Given the description of an element on the screen output the (x, y) to click on. 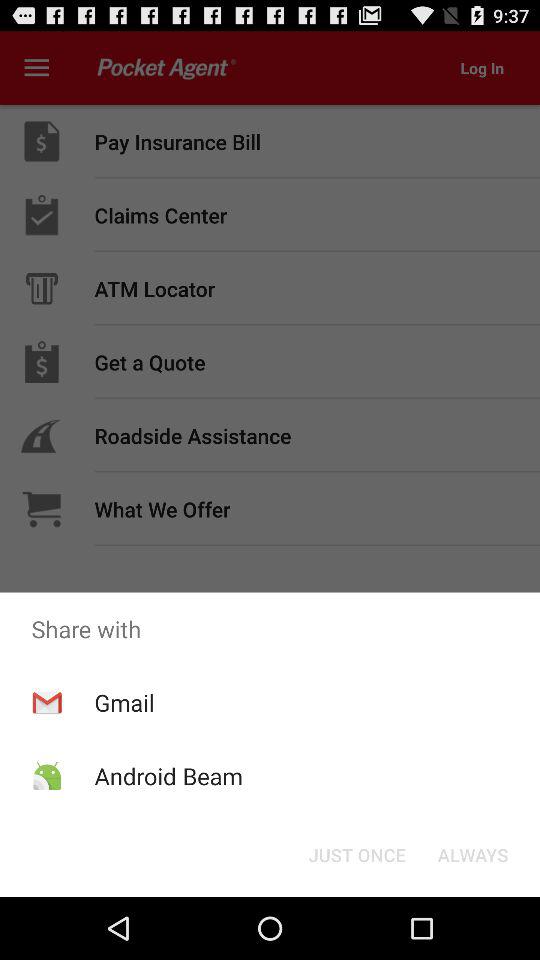
choose the just once button (356, 854)
